Given the description of an element on the screen output the (x, y) to click on. 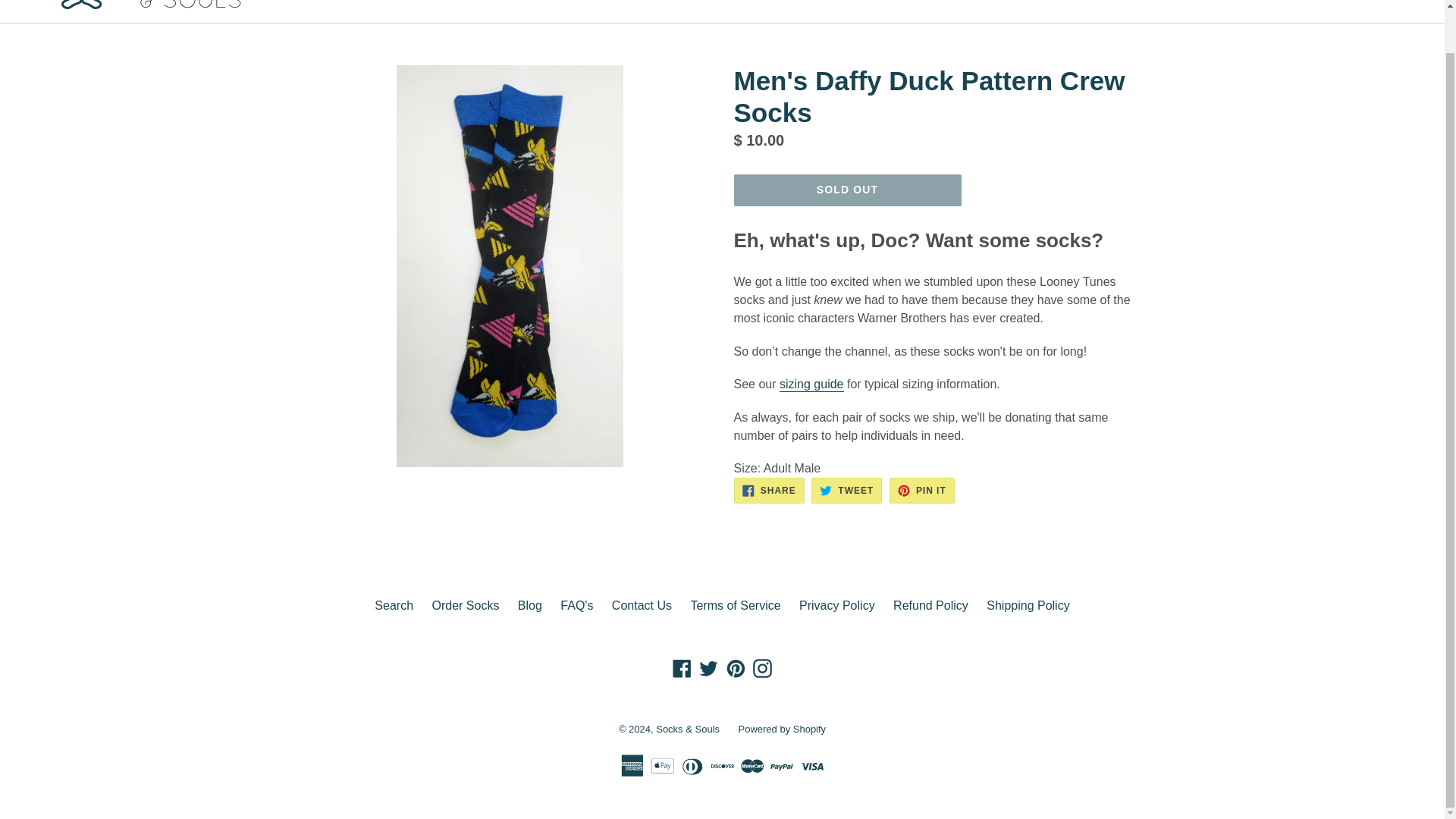
Pin on Pinterest (922, 490)
Socks and Souls Sizing Guide (811, 384)
Tweet on Twitter (846, 490)
Share on Facebook (769, 490)
